Given the description of an element on the screen output the (x, y) to click on. 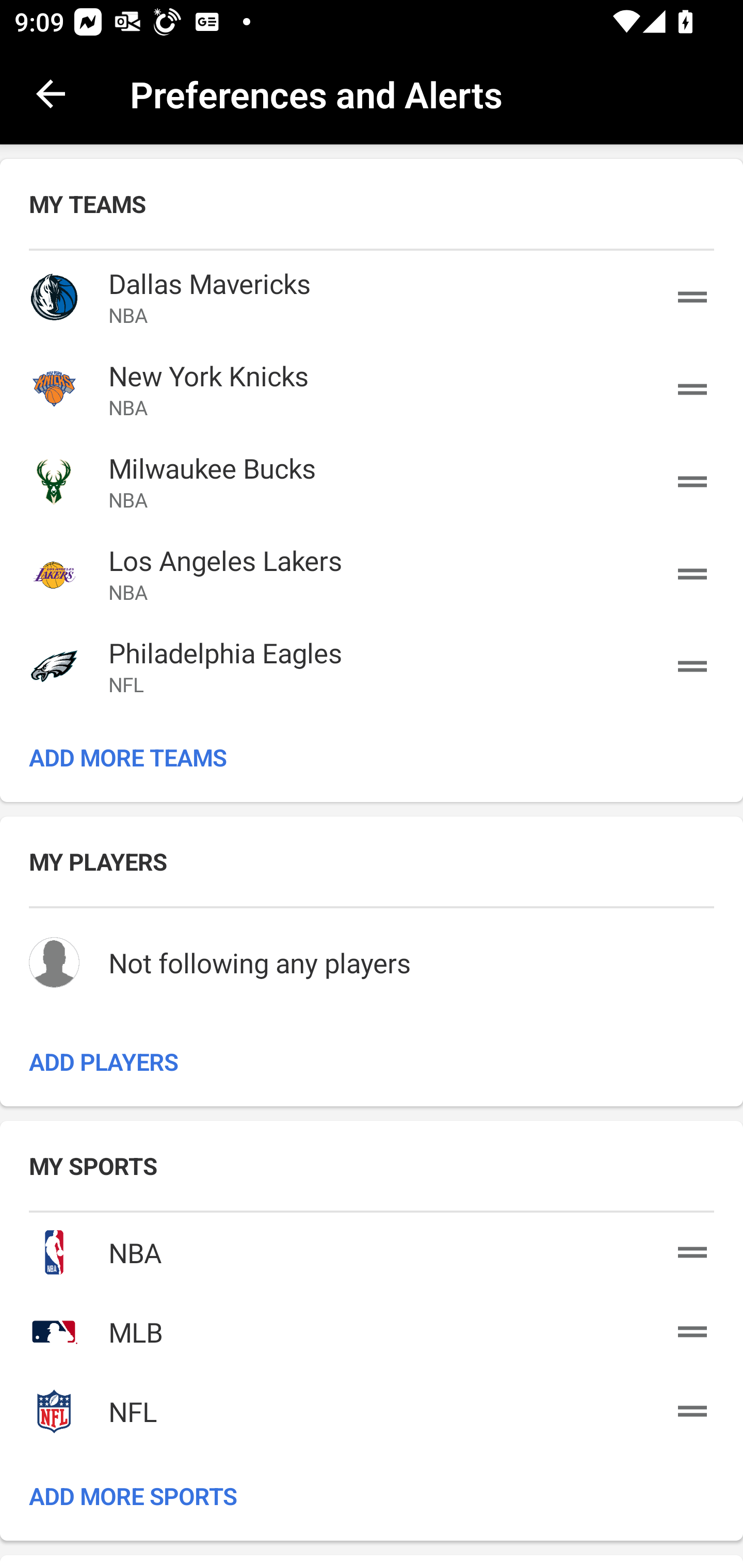
back.button (50, 93)
ADD MORE TEAMS (371, 756)
ADD PLAYERS (371, 1061)
NBA NBA NBA (371, 1248)
MLB MLB MLB (371, 1327)
NFL NFL NFL (371, 1408)
ADD MORE SPORTS (371, 1495)
